Given the description of an element on the screen output the (x, y) to click on. 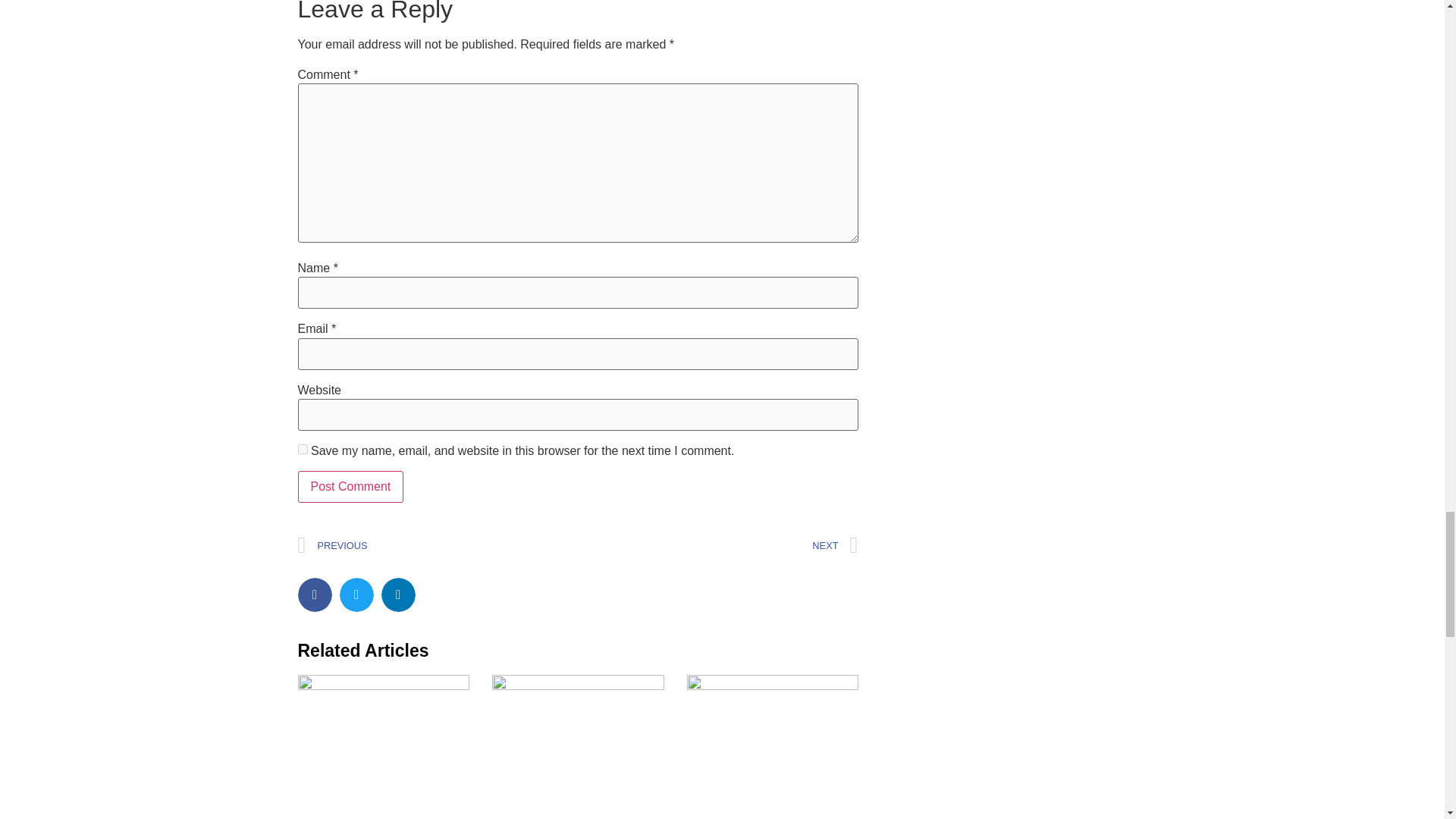
Post Comment (350, 486)
NEXT (717, 545)
Post Comment (350, 486)
yes (302, 449)
PREVIOUS (436, 545)
